Given the description of an element on the screen output the (x, y) to click on. 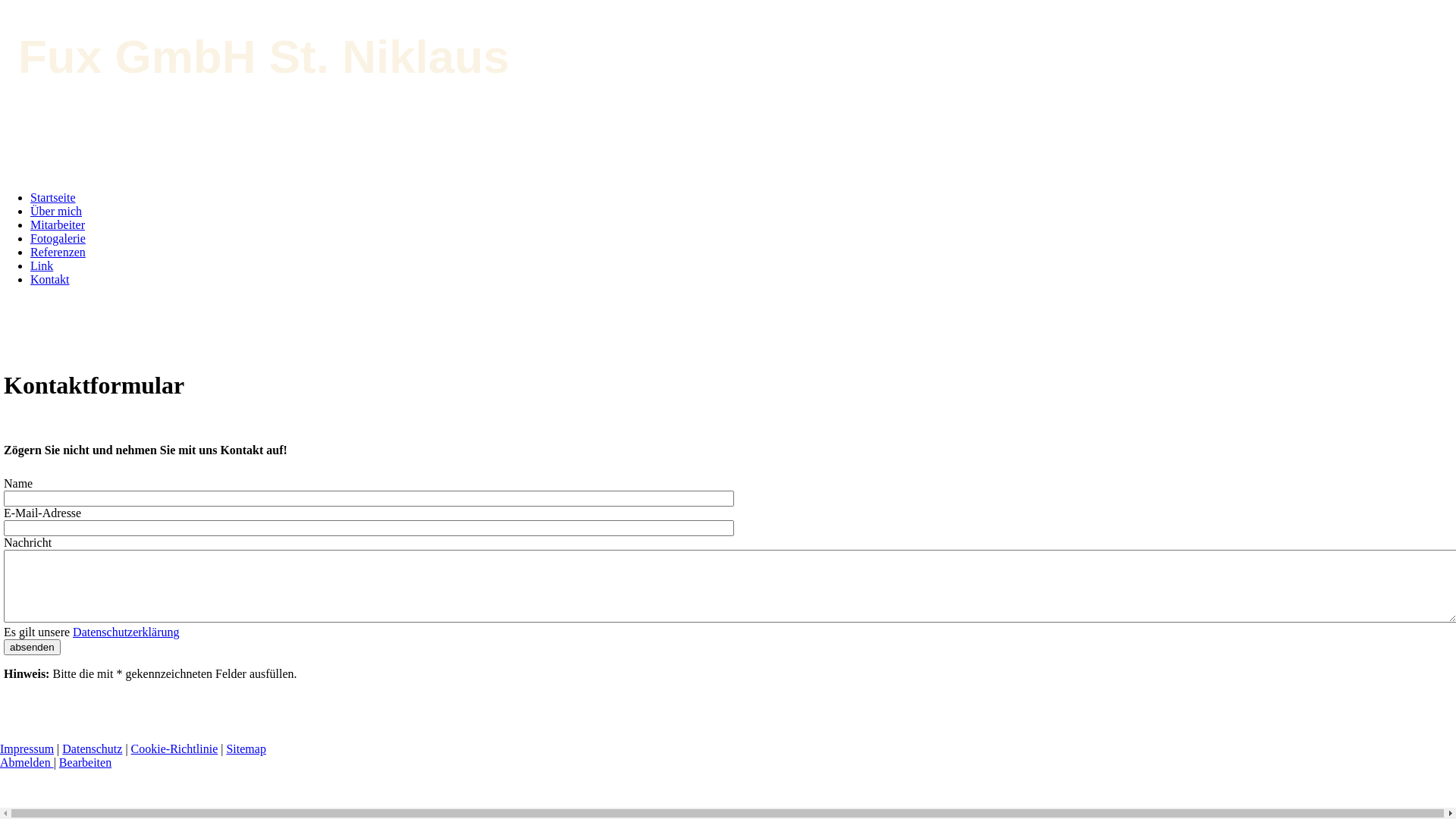
Sitemap Element type: text (245, 748)
Abmelden Element type: text (26, 762)
Startseite Element type: text (52, 197)
Datenschutz Element type: text (92, 748)
Bearbeiten Element type: text (85, 762)
Kontakt Element type: text (49, 279)
Link Element type: text (41, 265)
Impressum Element type: text (26, 748)
absenden Element type: text (31, 647)
Mitarbeiter Element type: text (57, 224)
Referenzen Element type: text (57, 251)
Cookie-Richtlinie Element type: text (174, 748)
Fotogalerie Element type: text (57, 238)
